Given the description of an element on the screen output the (x, y) to click on. 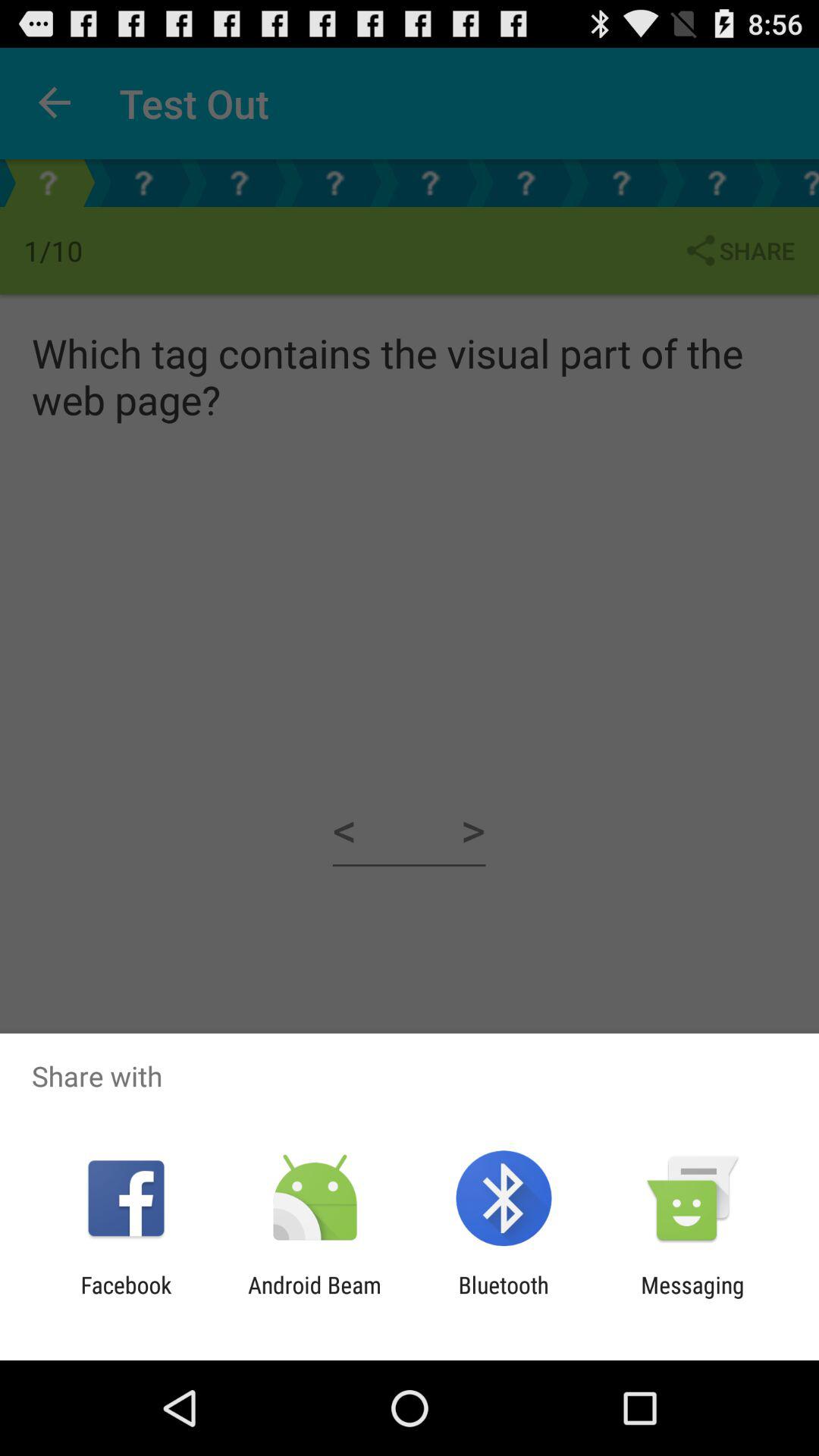
turn off the app next to bluetooth item (314, 1298)
